Given the description of an element on the screen output the (x, y) to click on. 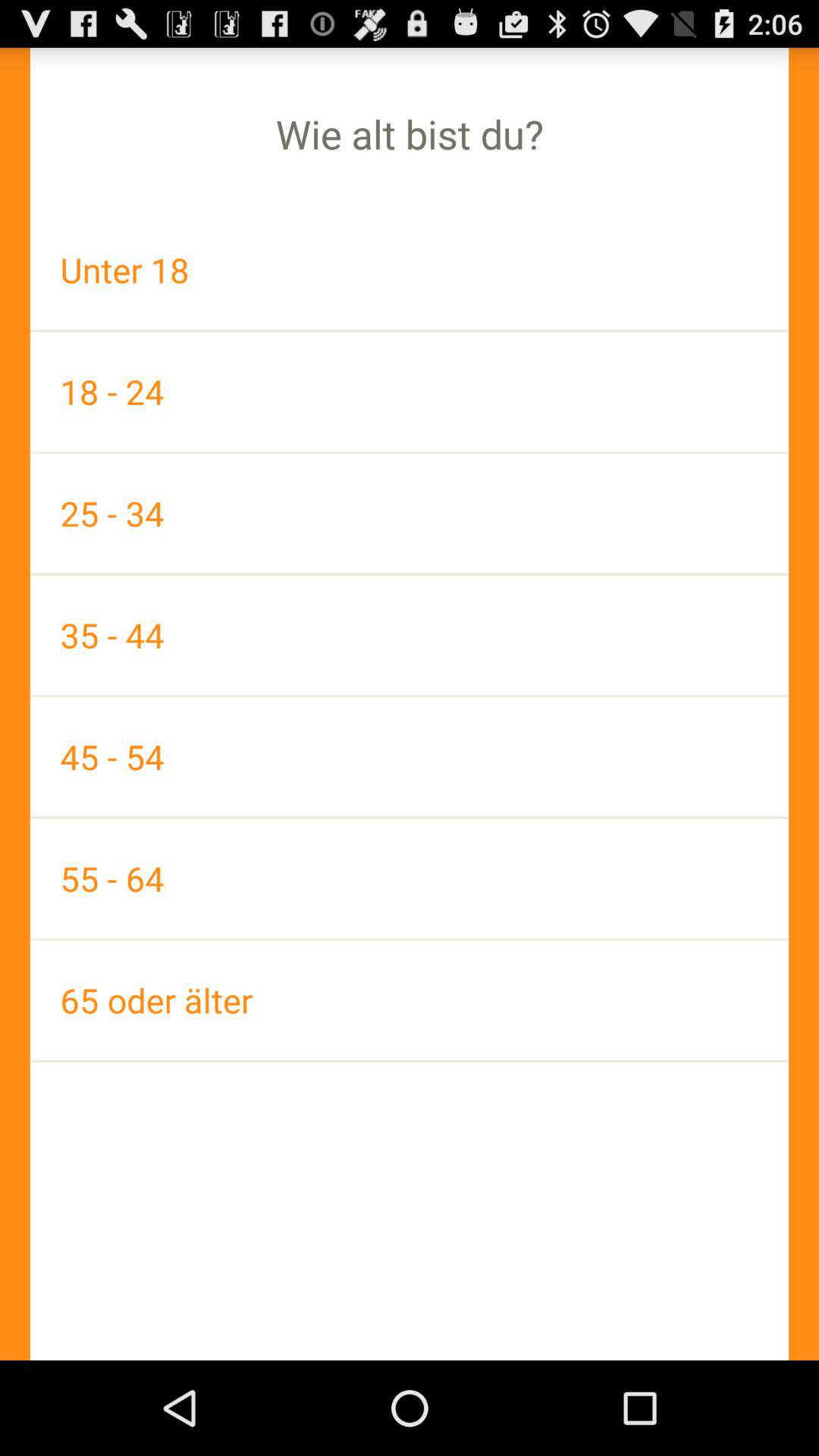
tap app below the 25 - 34 (409, 635)
